Given the description of an element on the screen output the (x, y) to click on. 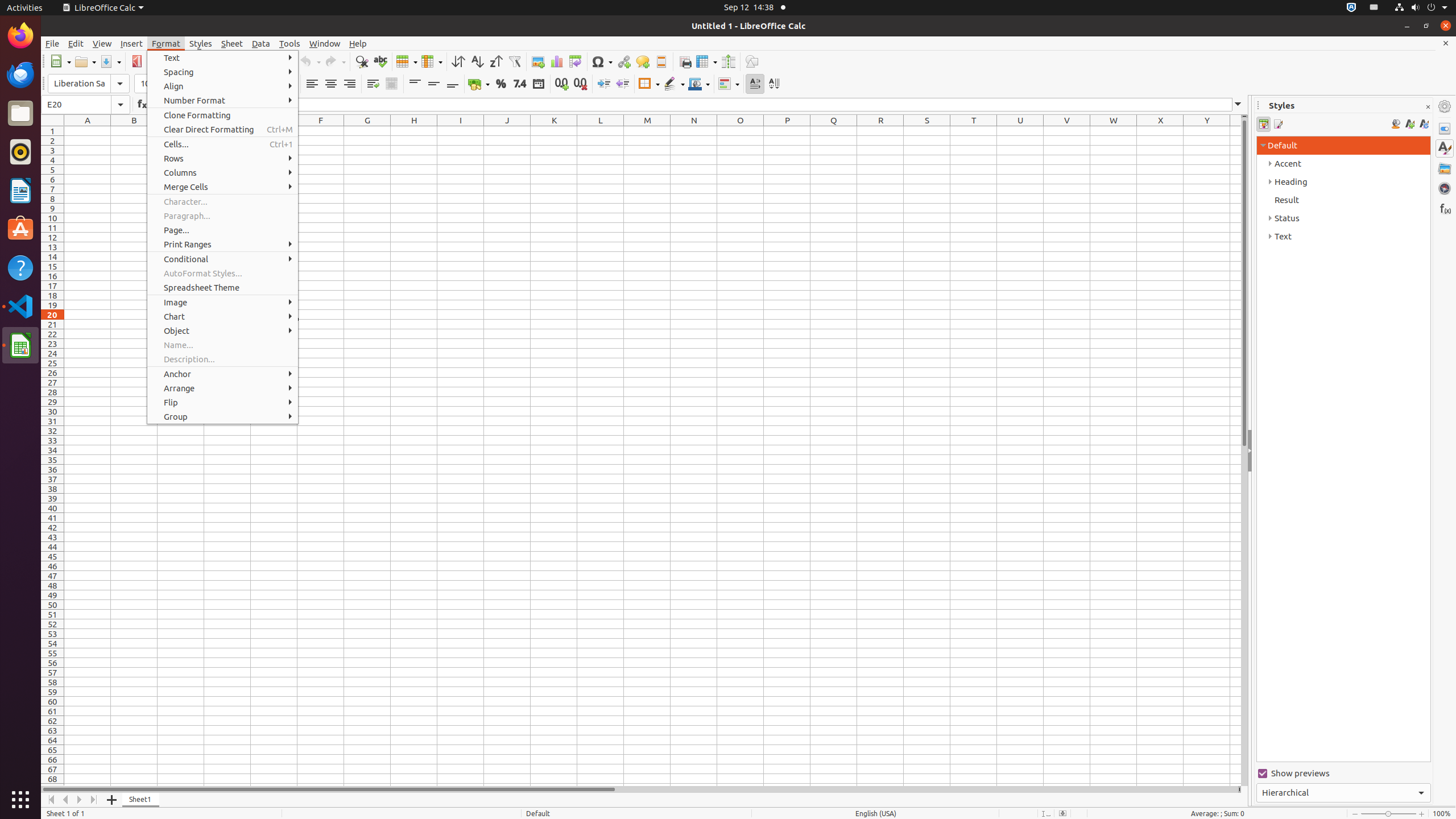
Border Color Element type: push-button (698, 83)
Draw Functions Element type: toggle-button (751, 61)
Add Decimal Place Element type: push-button (561, 83)
Conditional Element type: menu (222, 258)
G1 Element type: table-cell (367, 130)
